Given the description of an element on the screen output the (x, y) to click on. 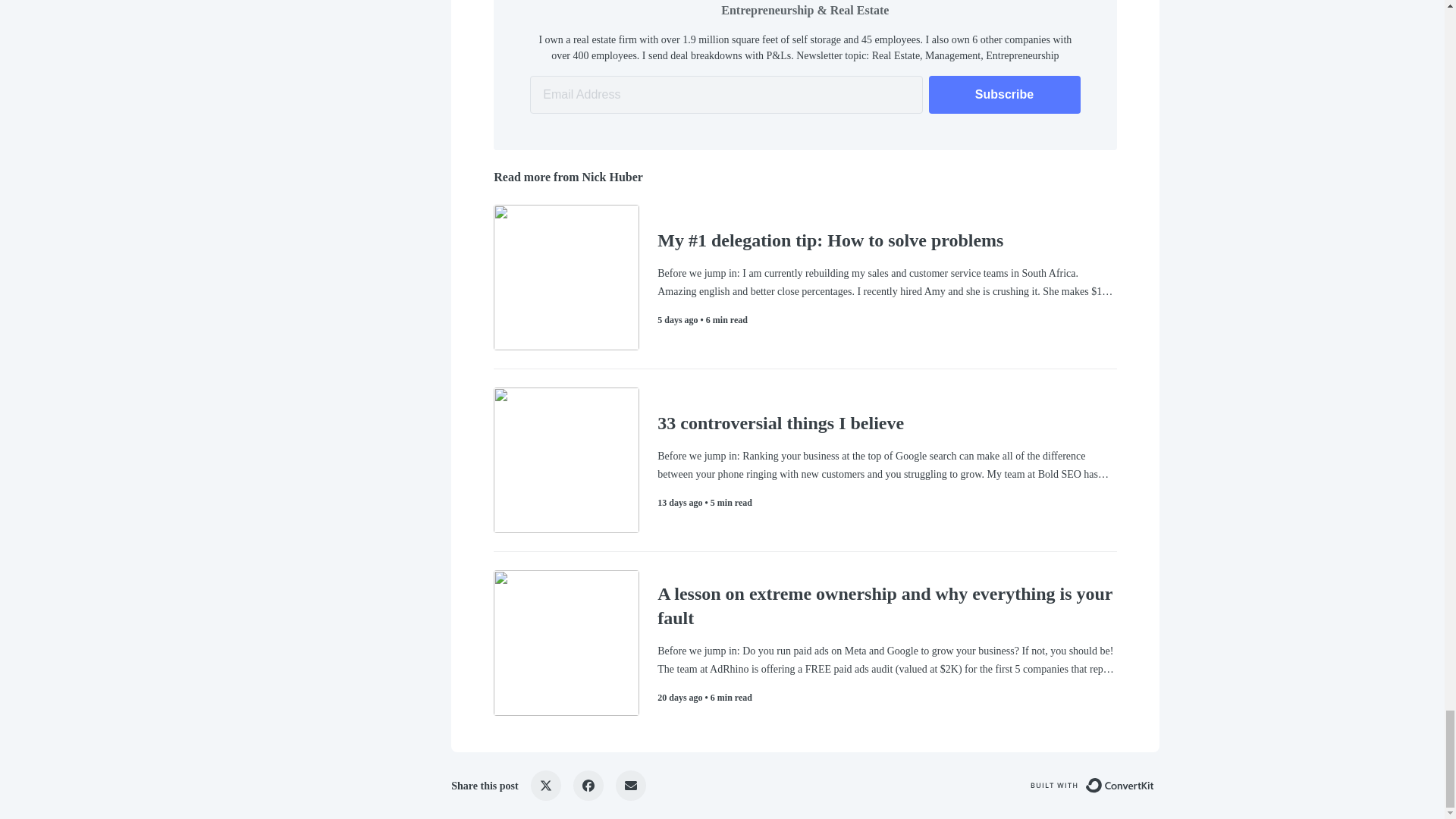
Subscribe (1004, 94)
33 controversial things I believe (887, 422)
